Given the description of an element on the screen output the (x, y) to click on. 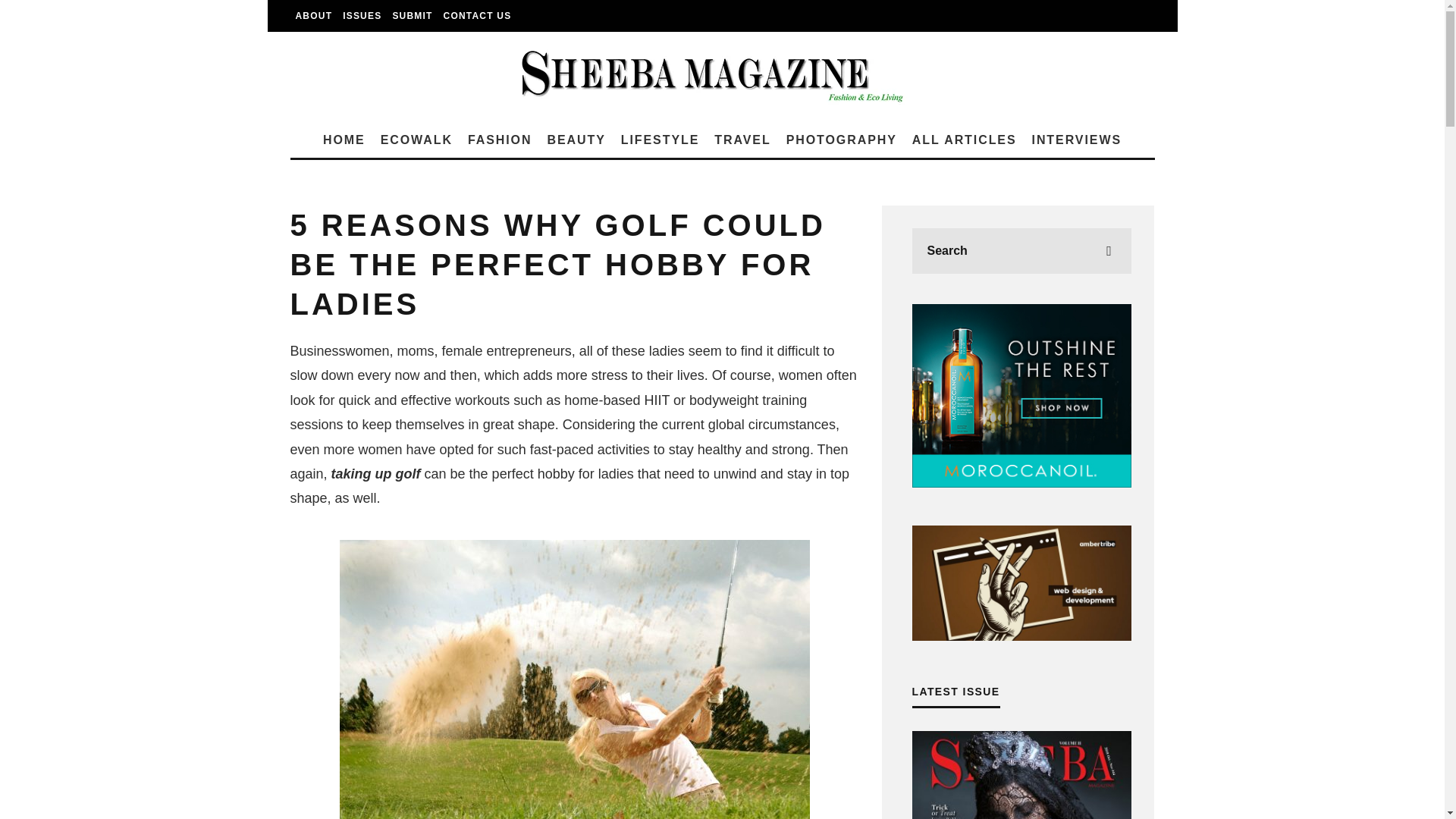
LIFESTYLE (659, 140)
CONTACT US (477, 15)
ECOWALK (416, 140)
ABOUT (313, 15)
TRAVEL (741, 140)
FASHION (500, 140)
BEAUTY (575, 140)
SUBMIT (412, 15)
ISSUES (362, 15)
HOME (343, 140)
PHOTOGRAPHY (841, 140)
